Given the description of an element on the screen output the (x, y) to click on. 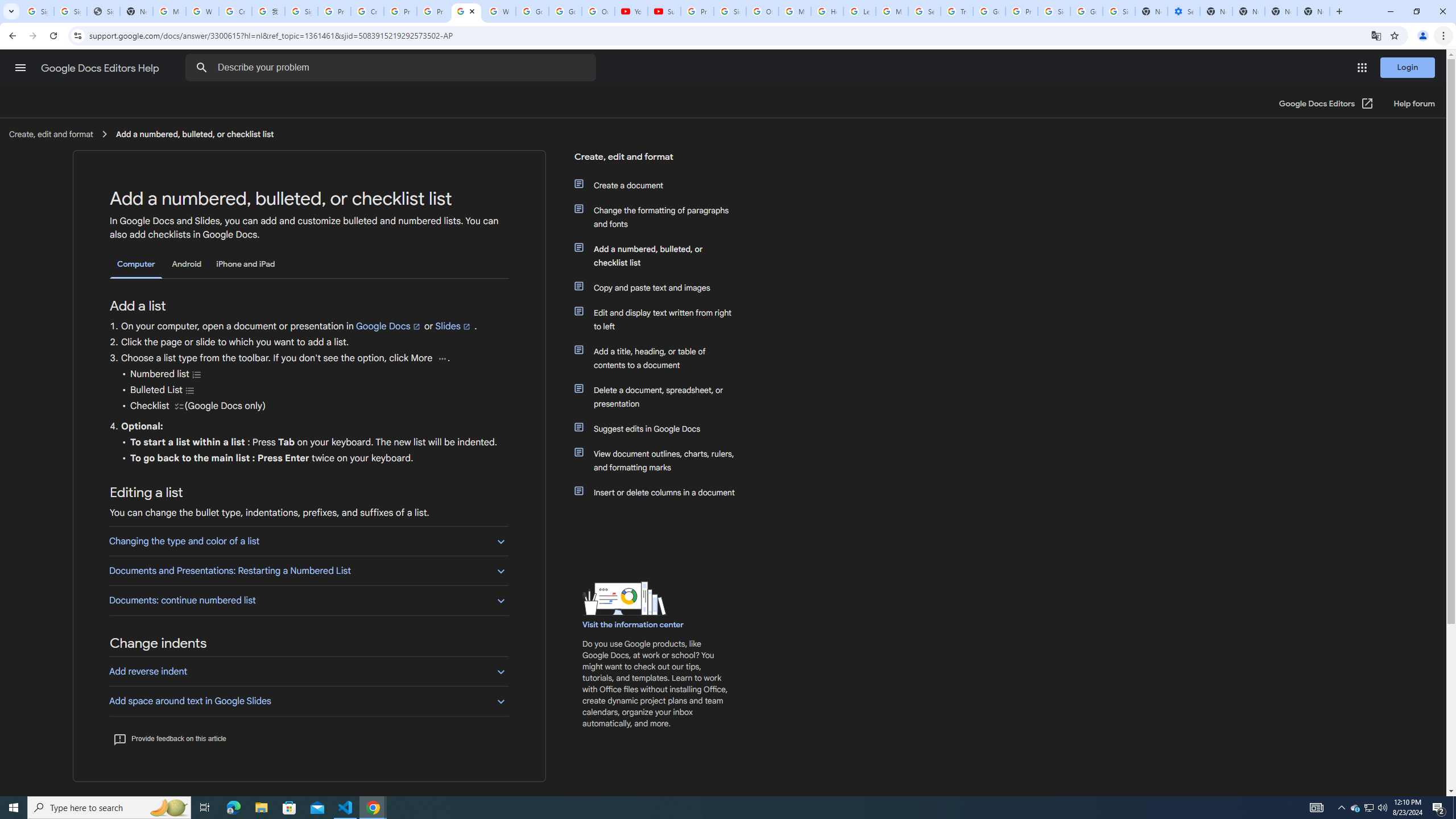
Sign in - Google Accounts (301, 11)
Search the Help Center (201, 67)
Slides (453, 326)
Forward (32, 35)
Back (10, 35)
Google Account (564, 11)
Numbered list (197, 374)
Delete a document, spreadsheet, or presentation (661, 396)
Add reverse indent (308, 671)
Sign in - Google Accounts (37, 11)
Google Docs (388, 326)
Copy and paste text and images (661, 287)
Search tabs (10, 11)
New Tab (1338, 11)
Insert or delete columns in a document (661, 492)
